Given the description of an element on the screen output the (x, y) to click on. 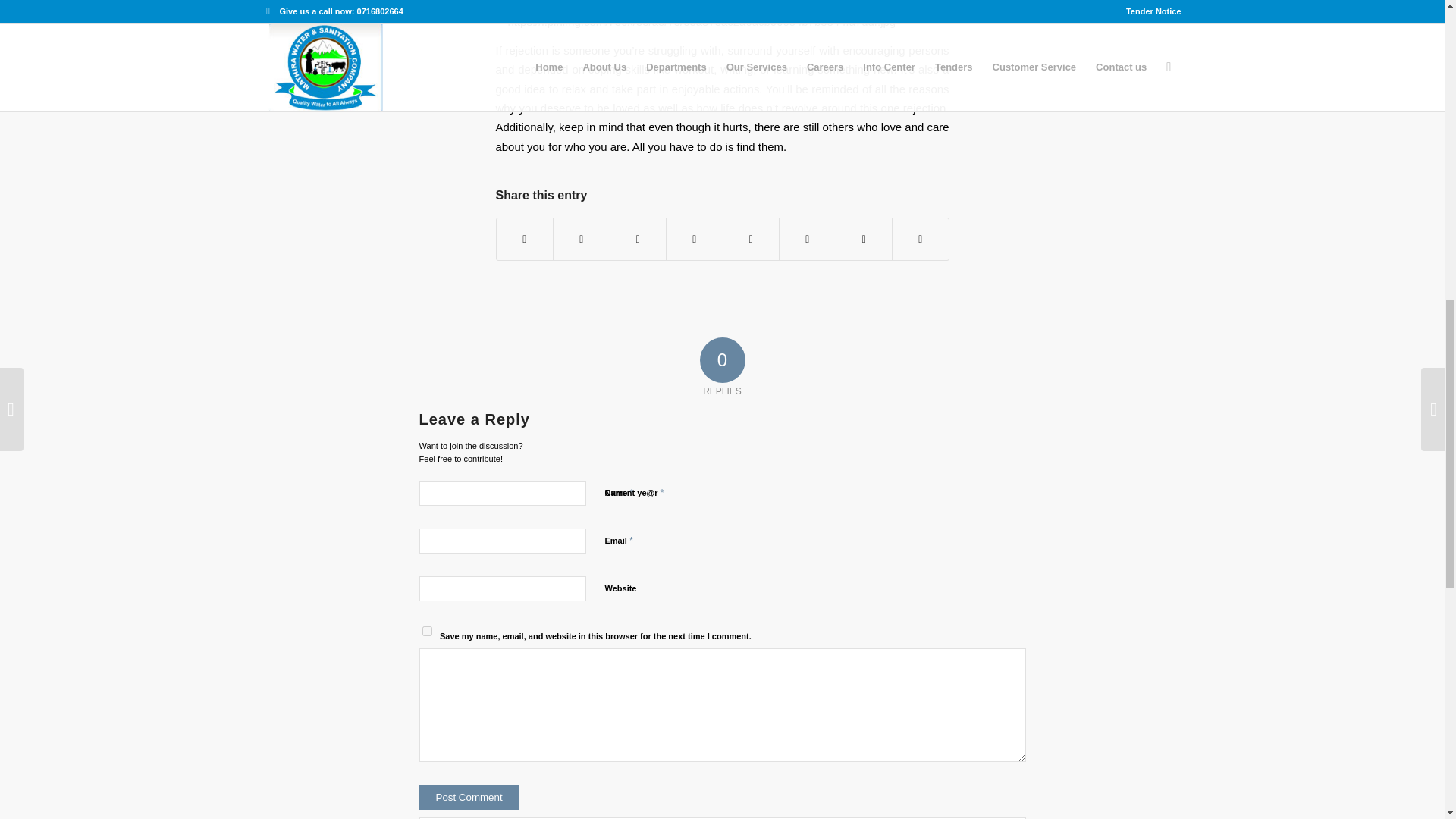
yes (426, 631)
Post Comment (468, 796)
